Given the description of an element on the screen output the (x, y) to click on. 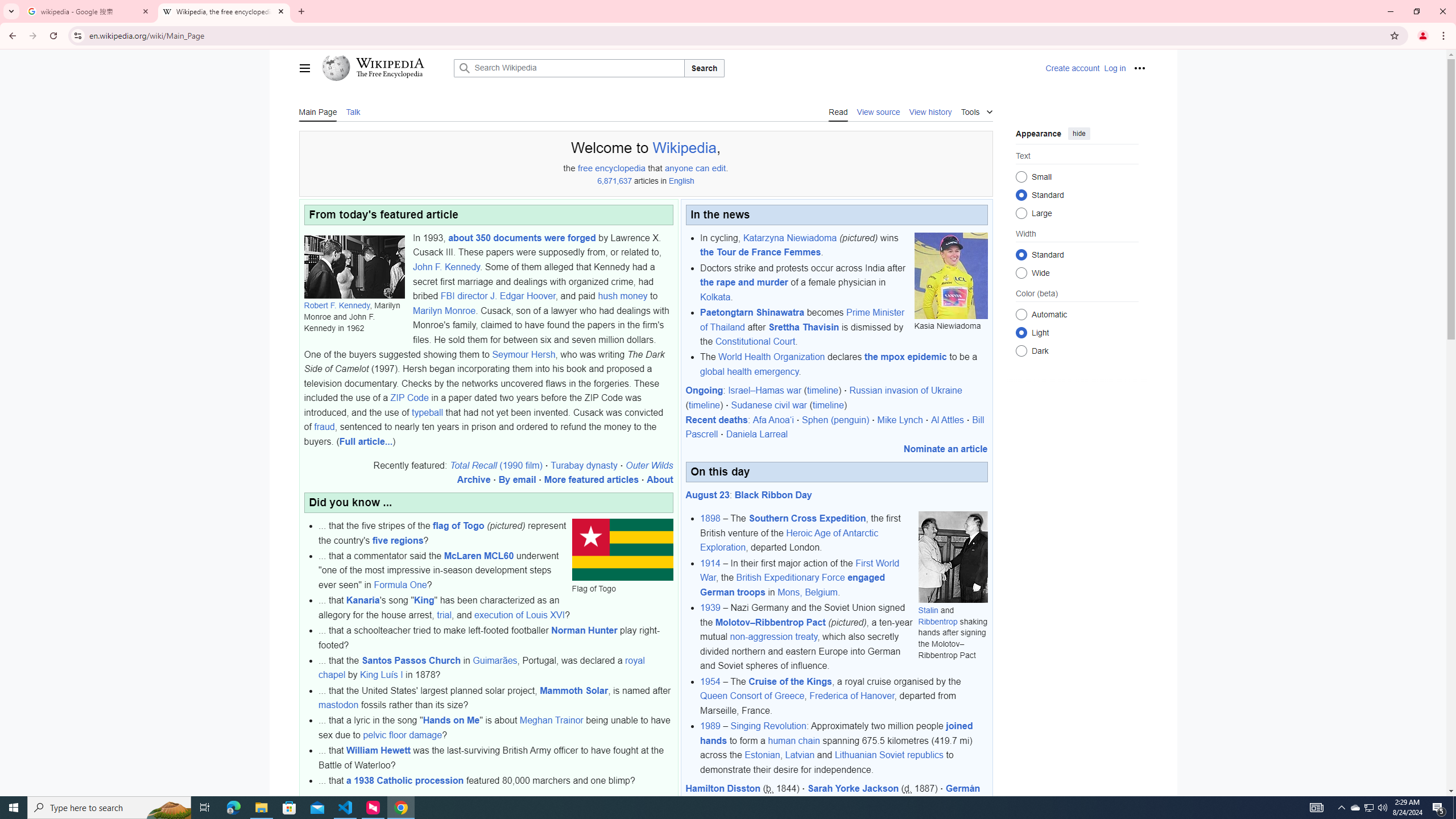
Estonian (762, 755)
Sphen (penguin) (835, 419)
